Given the description of an element on the screen output the (x, y) to click on. 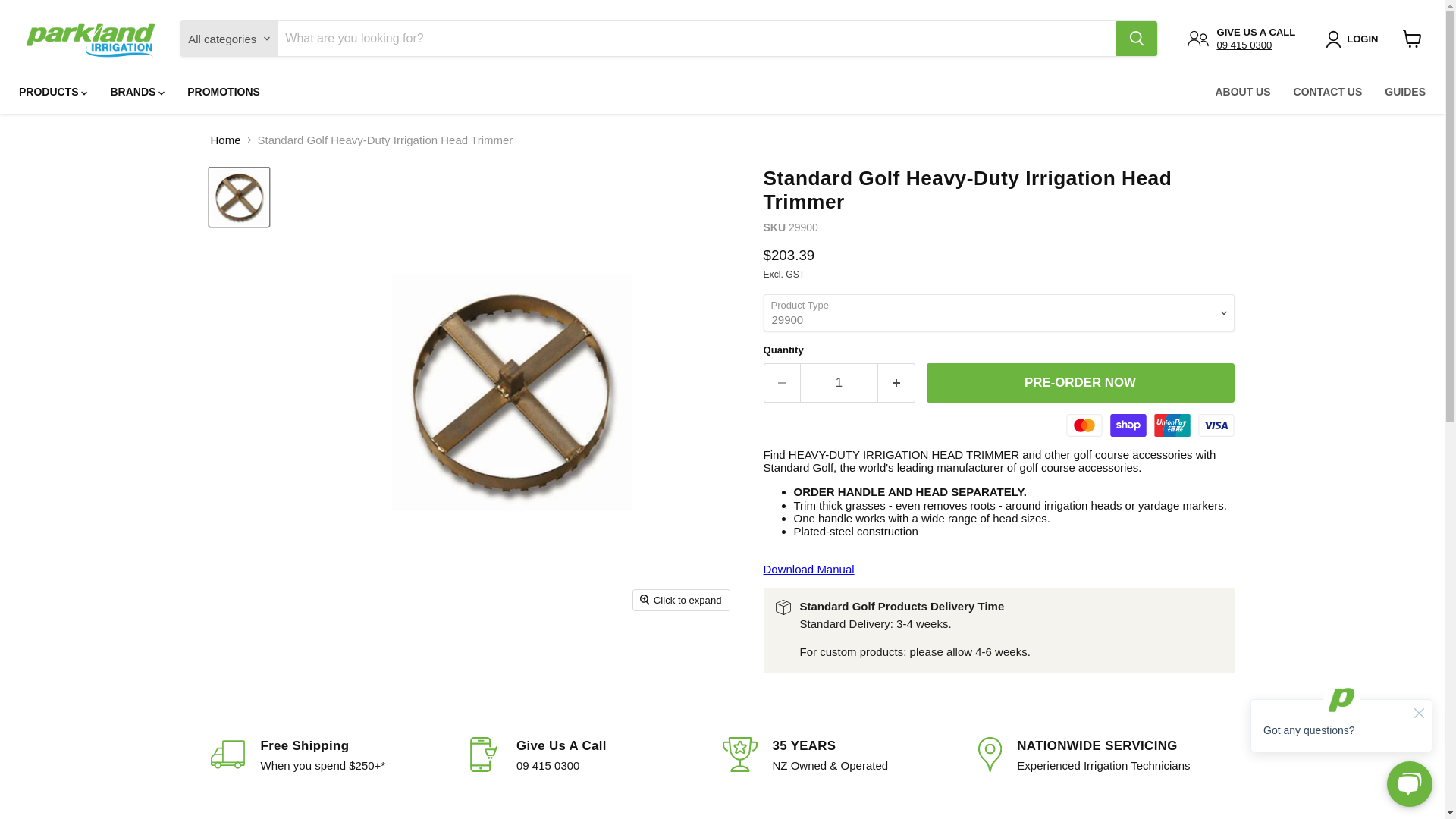
Shop Pay (1128, 425)
Mastercard (1083, 425)
Visa (1216, 425)
Union Pay (1172, 425)
Phone 09 415 0300 (1243, 44)
LOGIN (1354, 39)
View cart (1411, 38)
09 415 0300 (1243, 44)
1 (838, 382)
